Given the description of an element on the screen output the (x, y) to click on. 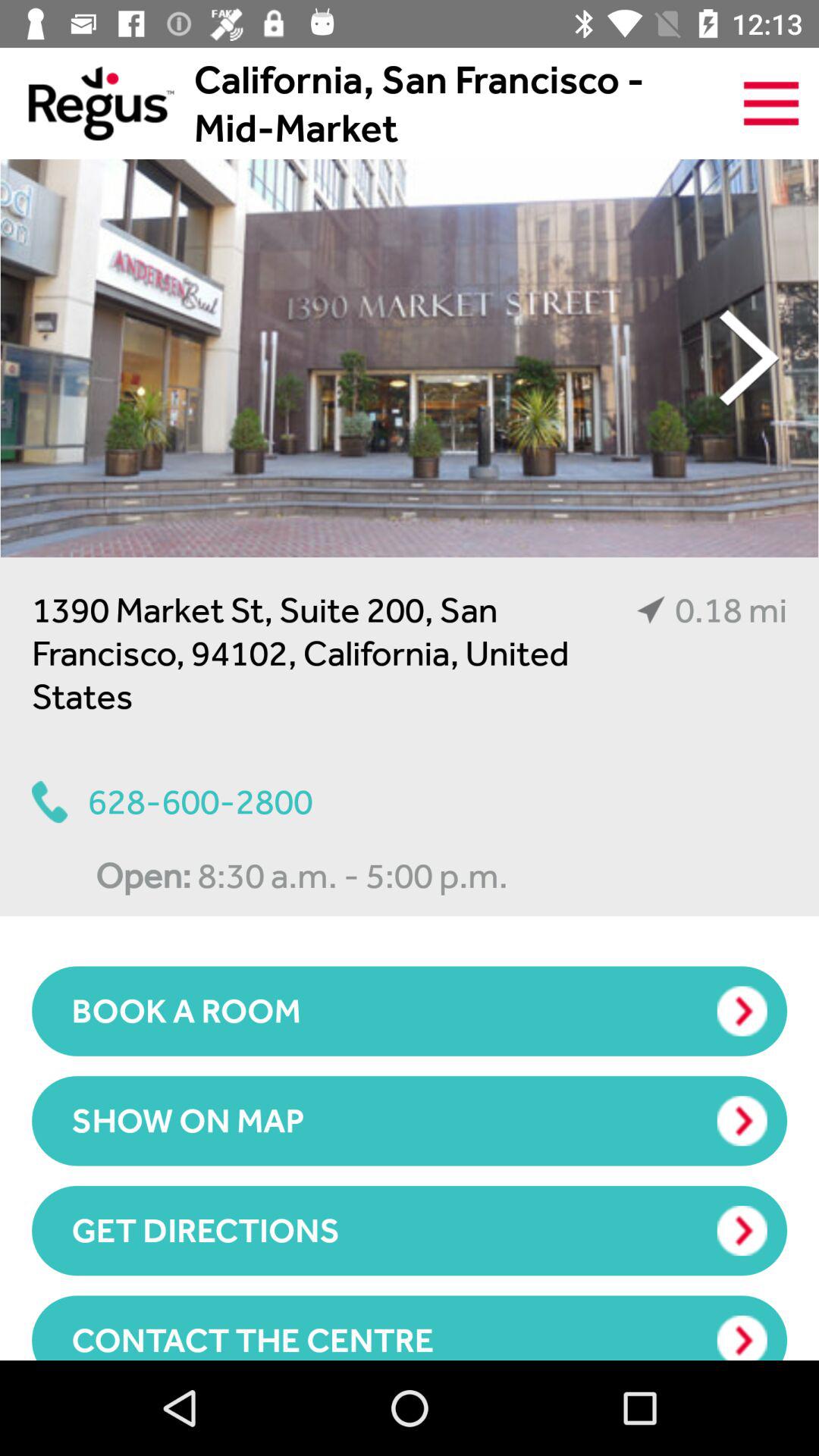
open images (409, 358)
